Given the description of an element on the screen output the (x, y) to click on. 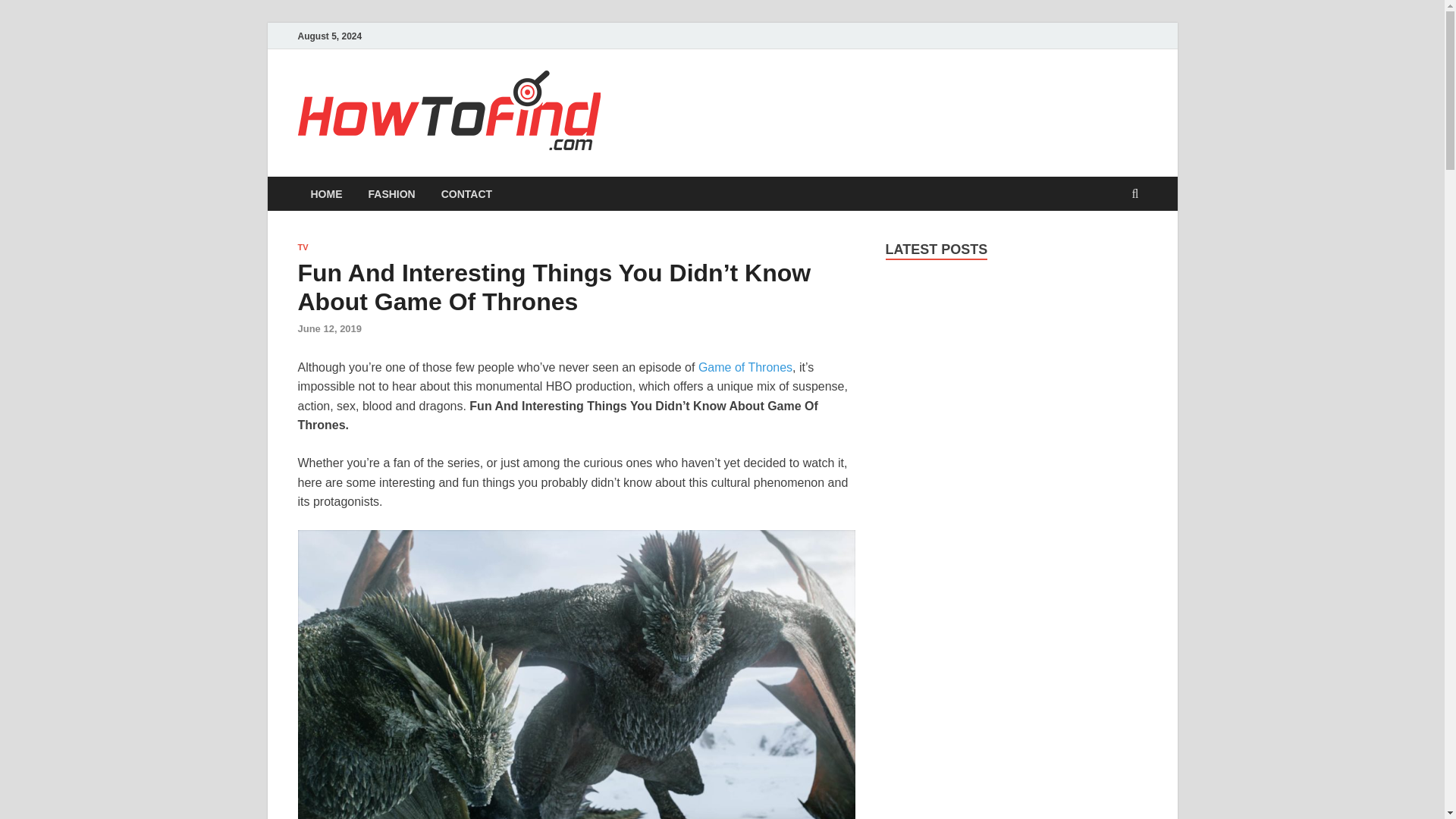
June 12, 2019 (329, 328)
HOME (326, 193)
FASHION (391, 193)
TV (302, 246)
CONTACT (466, 193)
Game of Thrones (745, 367)
